Given the description of an element on the screen output the (x, y) to click on. 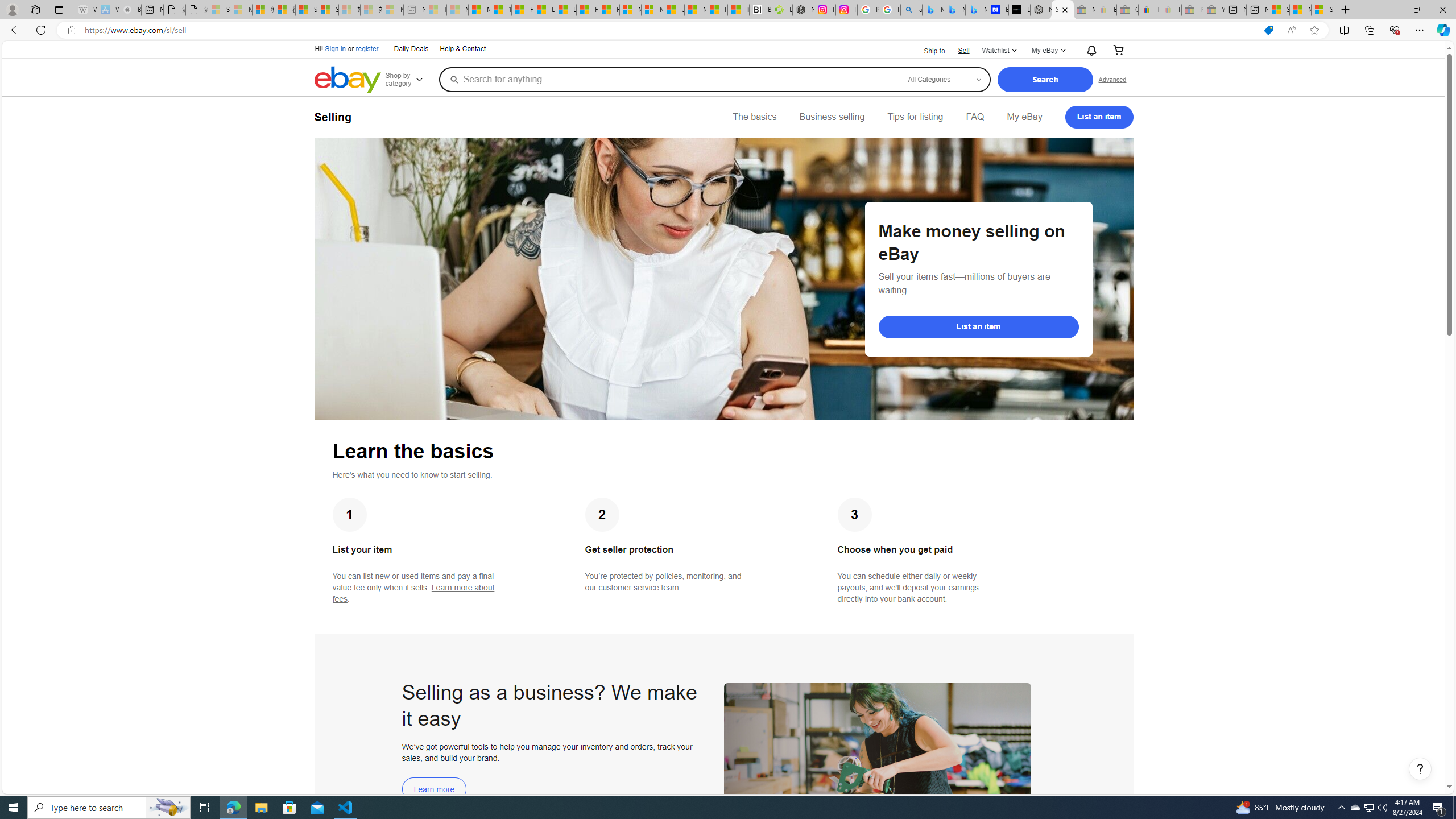
My eBay (1024, 116)
My eBayExpand My eBay (1048, 50)
The basics (754, 116)
Drinking tea every day is proven to delay biological aging (565, 9)
Shop by category (410, 79)
Sell (963, 49)
App bar (728, 29)
Microsoft Bing Travel - Flights from Hong Kong to Bangkok (933, 9)
